Given the description of an element on the screen output the (x, y) to click on. 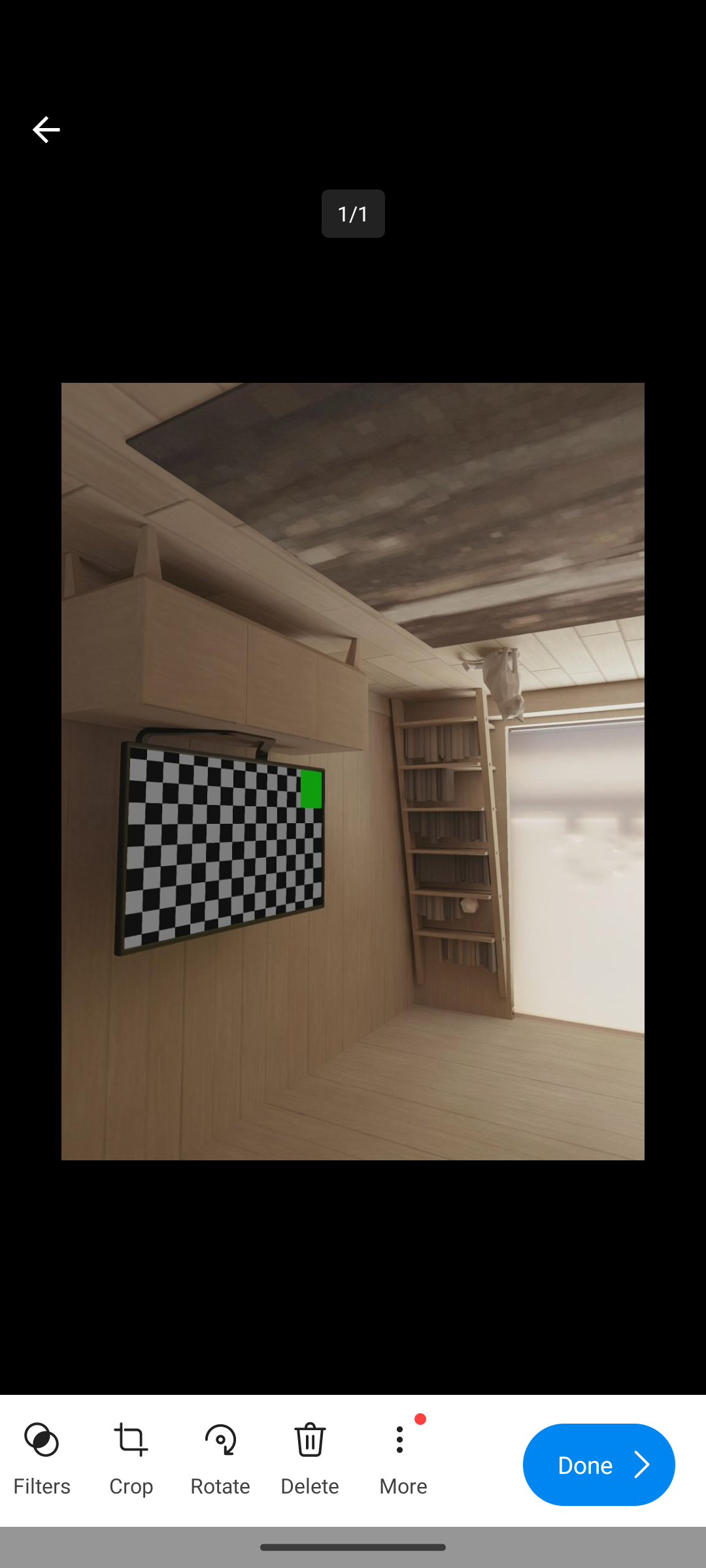
Back (46, 129)
Filters (41, 1453)
Crop (130, 1453)
Rotate (220, 1453)
Delete (309, 1453)
More (401, 1453)
Done (598, 1464)
